Given the description of an element on the screen output the (x, y) to click on. 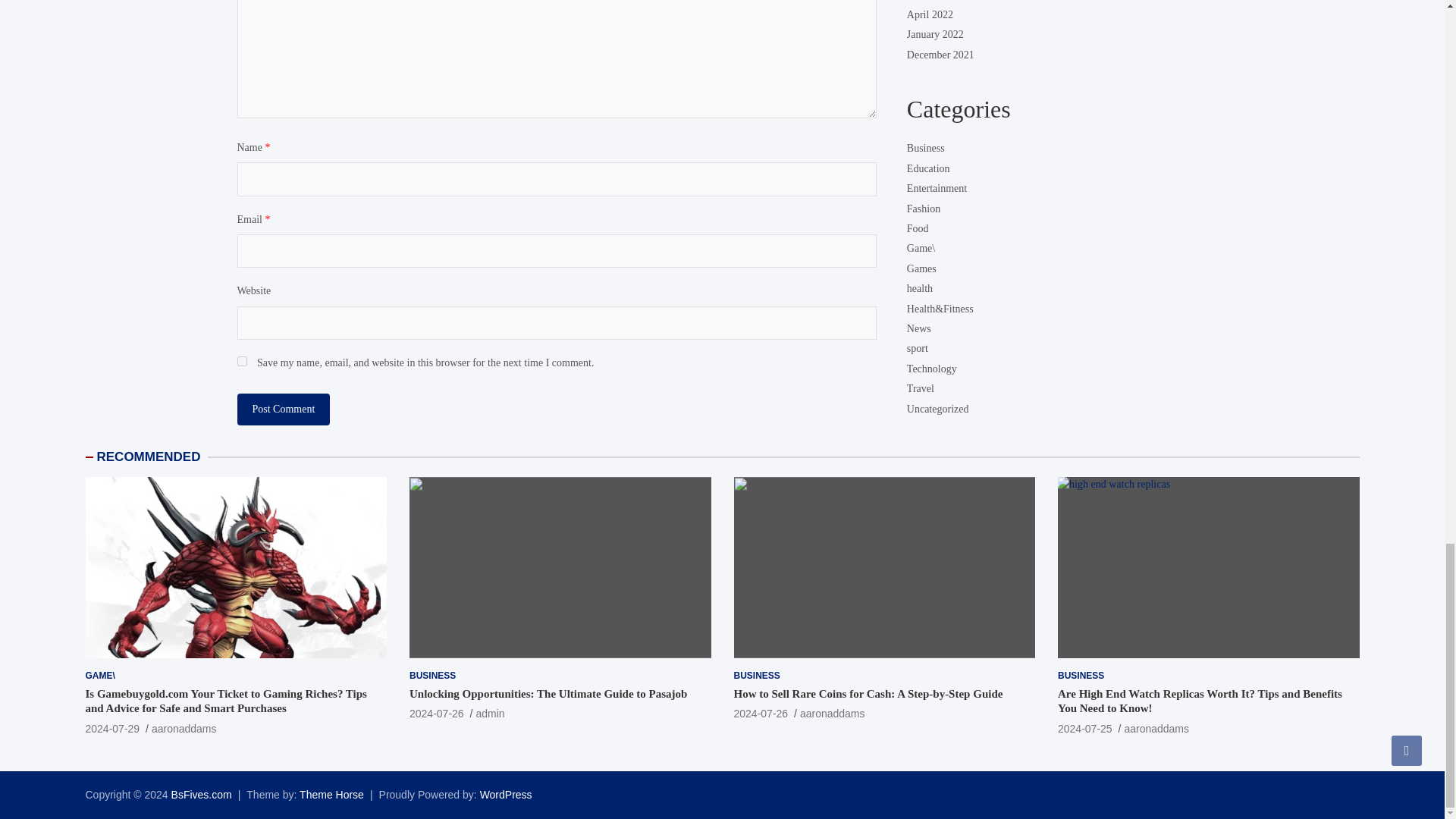
BsFives.com (201, 794)
WordPress (506, 794)
How to Sell Rare Coins for Cash: A Step-by-Step Guide (761, 713)
Unlocking Opportunities: The Ultimate Guide to Pasajob (436, 713)
Theme Horse (331, 794)
Post Comment (282, 409)
yes (240, 361)
Post Comment (282, 409)
